Given the description of an element on the screen output the (x, y) to click on. 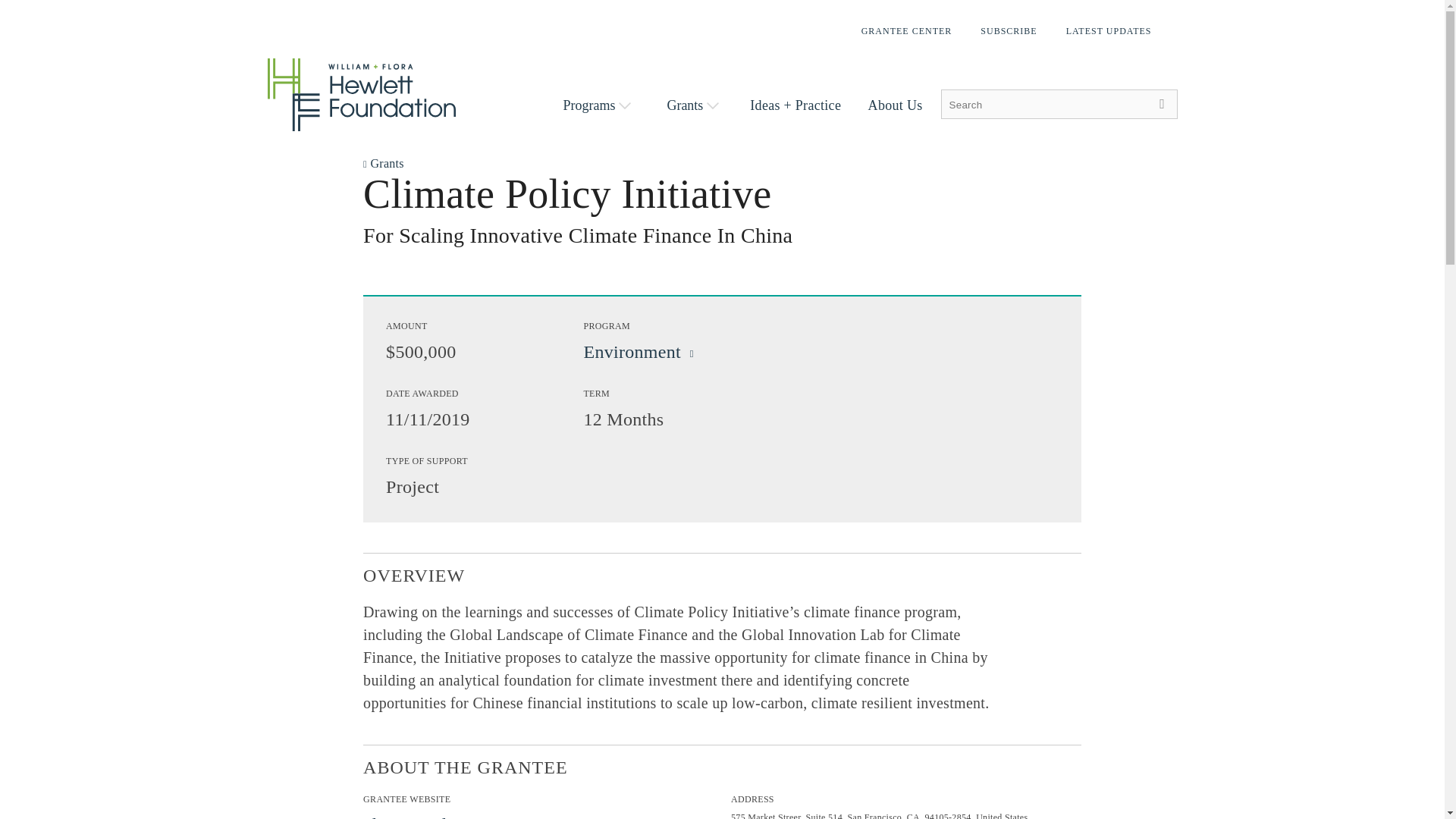
LATEST UPDATES (1108, 30)
SUBSCRIBE (1007, 30)
Programs (595, 104)
About Us (895, 105)
Search (1161, 103)
GRANTEE CENTER (907, 30)
Grants (692, 104)
